Given the description of an element on the screen output the (x, y) to click on. 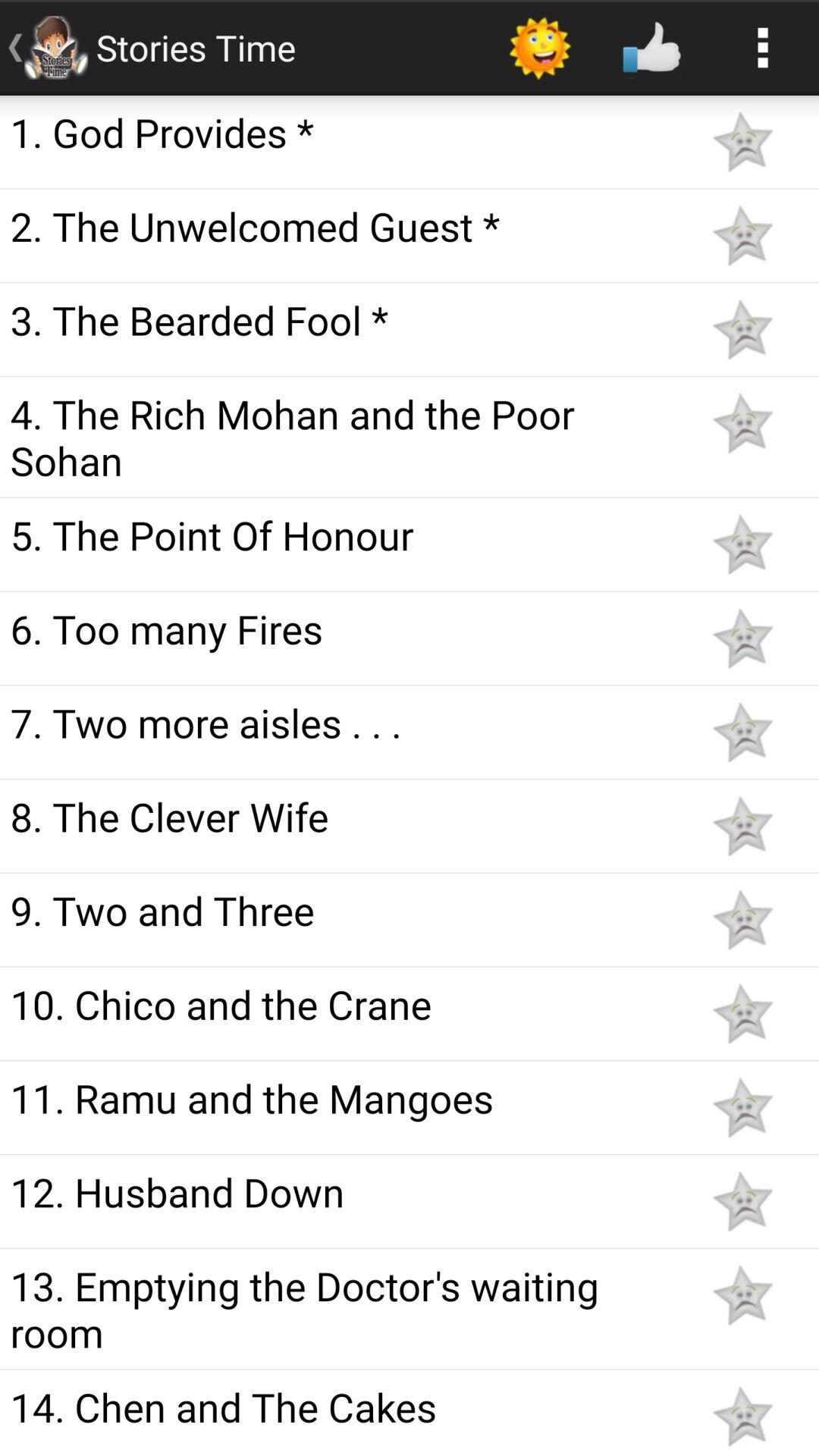
favorite (742, 544)
